Given the description of an element on the screen output the (x, y) to click on. 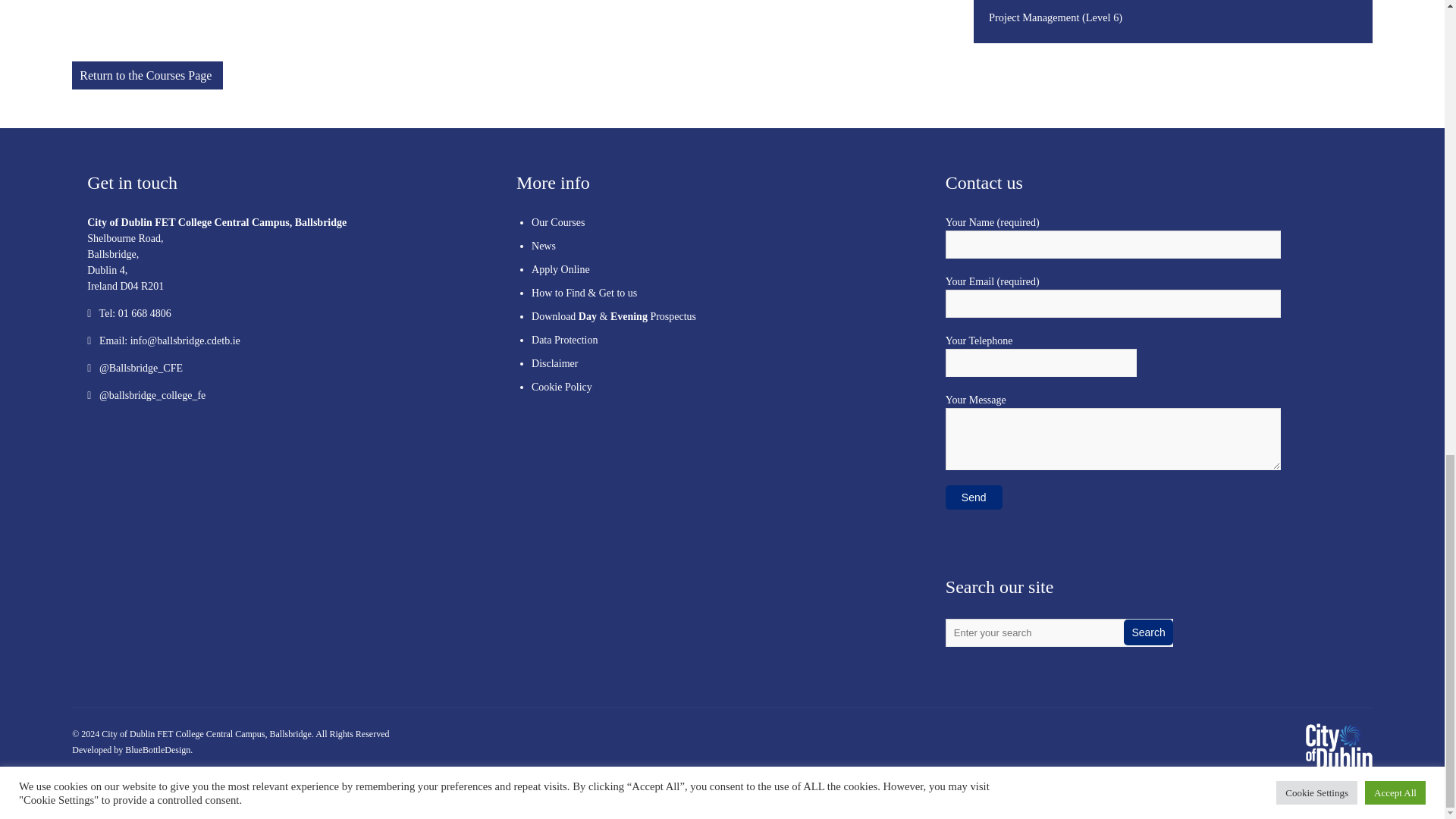
Search (1148, 632)
Send (973, 497)
